Given the description of an element on the screen output the (x, y) to click on. 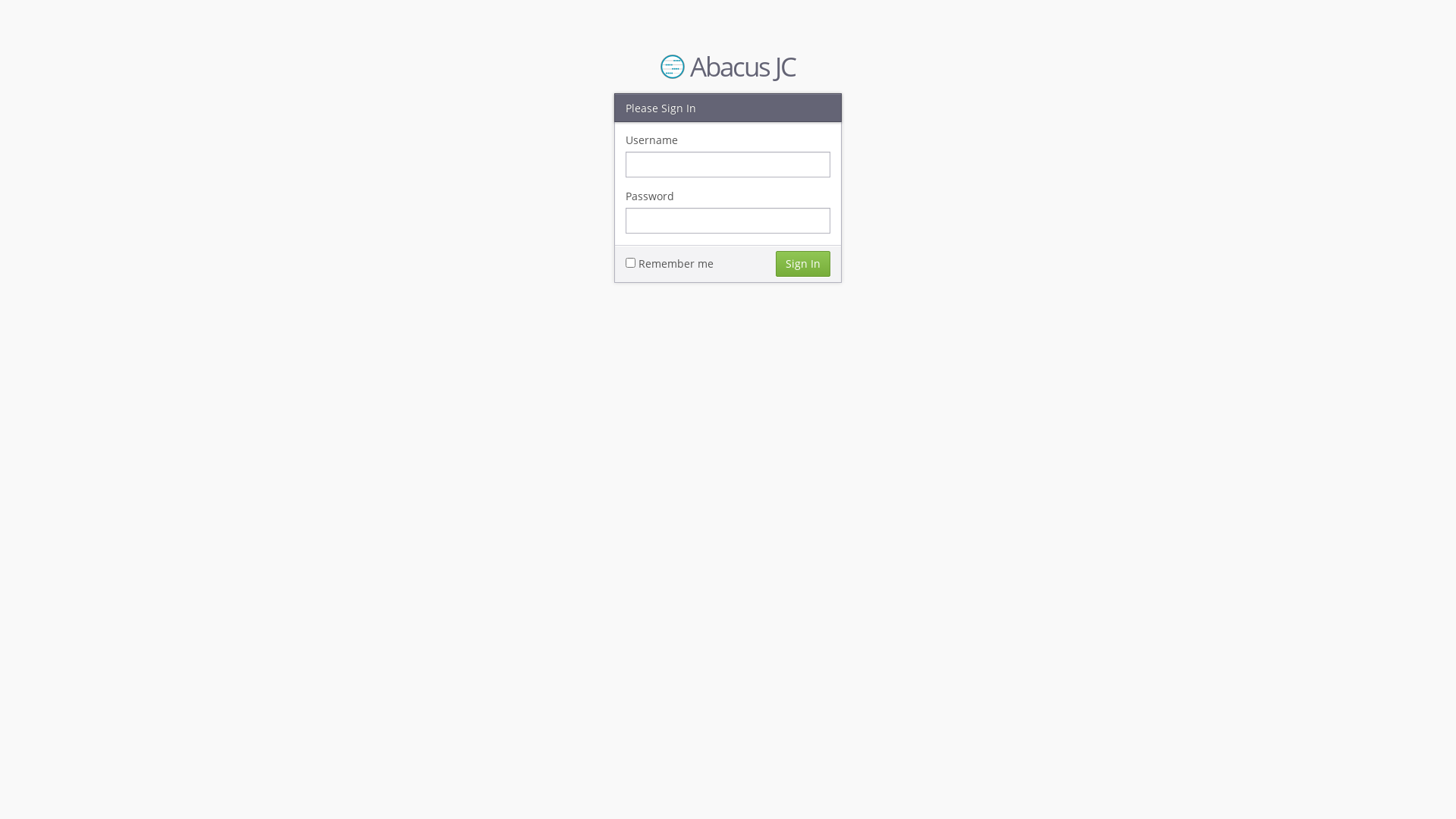
Sign In Element type: text (802, 263)
